Given the description of an element on the screen output the (x, y) to click on. 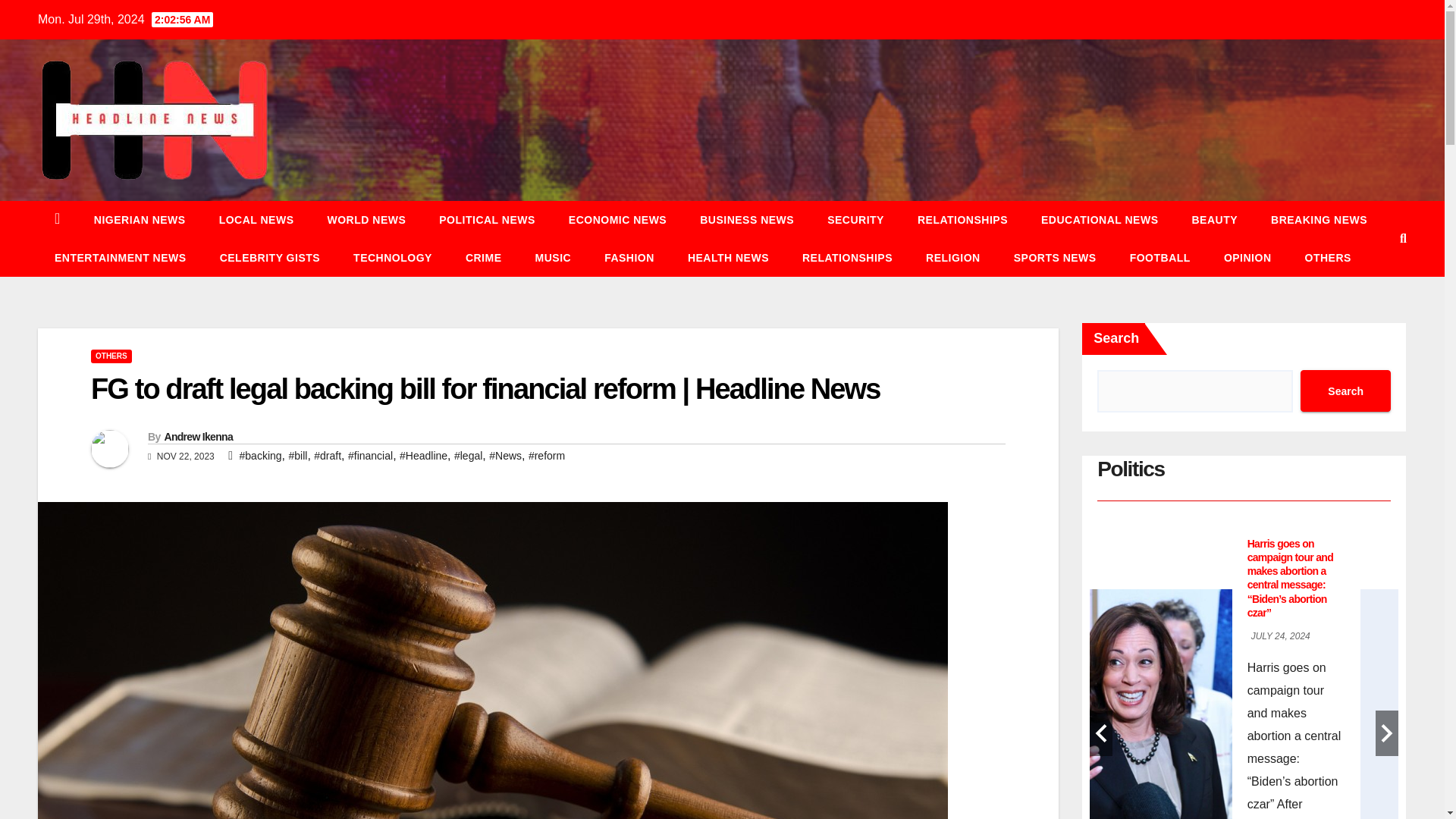
Celebrity Gists (269, 257)
Political News (486, 219)
ECONOMIC NEWS (616, 219)
WORLD NEWS (367, 219)
Security (855, 219)
FOOTBALL (1160, 257)
Andrew Ikenna (197, 436)
CELEBRITY GISTS (269, 257)
BUSINESS NEWS (746, 219)
OTHERS (1328, 257)
SECURITY (855, 219)
OTHERS (111, 356)
Educational News (1099, 219)
Breaking News (1318, 219)
Economic News (616, 219)
